Given the description of an element on the screen output the (x, y) to click on. 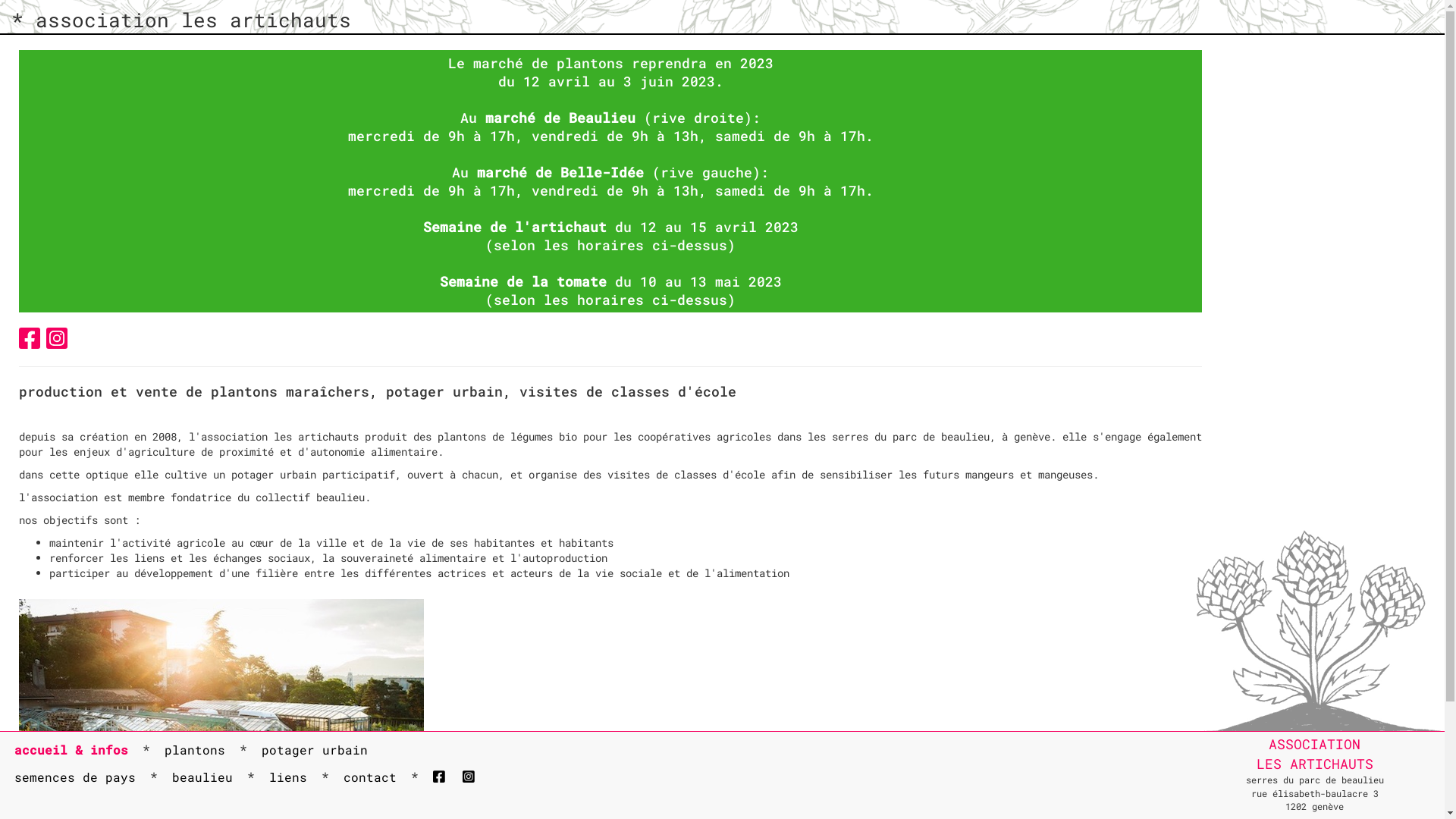
liens Element type: text (288, 777)
contact Element type: text (369, 777)
semences de pays Element type: text (74, 777)
potager urbain Element type: text (314, 750)
plantons Element type: text (194, 750)
beaulieu Element type: text (202, 777)
accueil & infos Element type: text (71, 750)
